Given the description of an element on the screen output the (x, y) to click on. 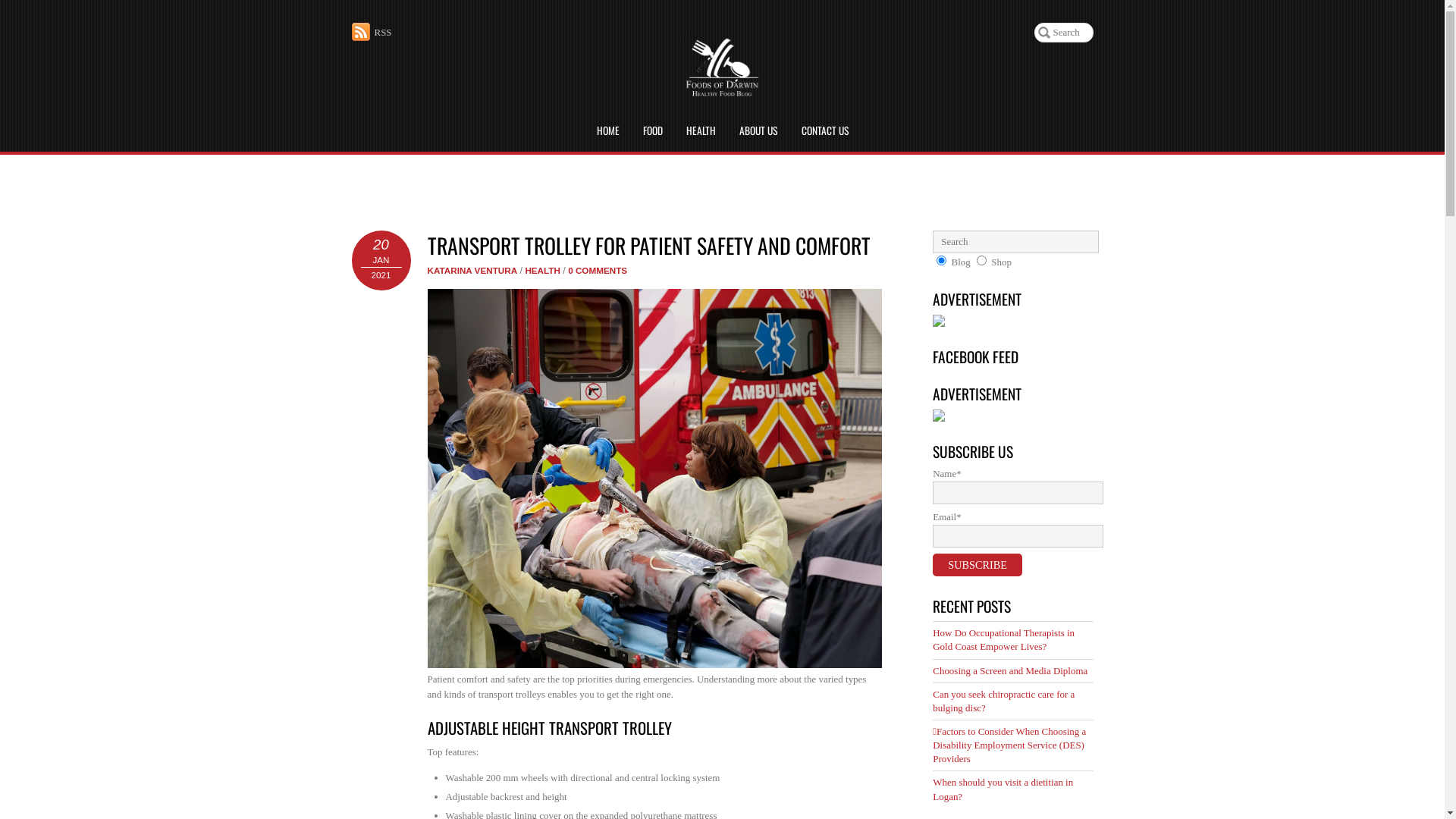
ABOUT US Element type: text (757, 131)
When should you visit a dietitian in Logan? Element type: text (1002, 788)
Foods of Darwin Element type: hover (721, 67)
Can you seek chiropractic care for a bulging disc? Element type: text (1003, 700)
RSS Element type: text (371, 31)
Choosing a Screen and Media Diploma Element type: text (1009, 670)
KATARINA VENTURA Element type: text (472, 270)
HOME Element type: text (607, 131)
HEALTH Element type: text (700, 131)
TRANSPORT TROLLEY FOR PATIENT SAFETY AND COMFORT Element type: text (648, 244)
0 COMMENTS Element type: text (597, 270)
CONTACT US Element type: text (824, 131)
HEALTH Element type: text (542, 270)
FOOD Element type: text (652, 131)
Foods of Darwin Element type: hover (721, 88)
Subscribe Element type: text (977, 564)
How Do Occupational Therapists in Gold Coast Empower Lives? Element type: text (1003, 639)
